Given the description of an element on the screen output the (x, y) to click on. 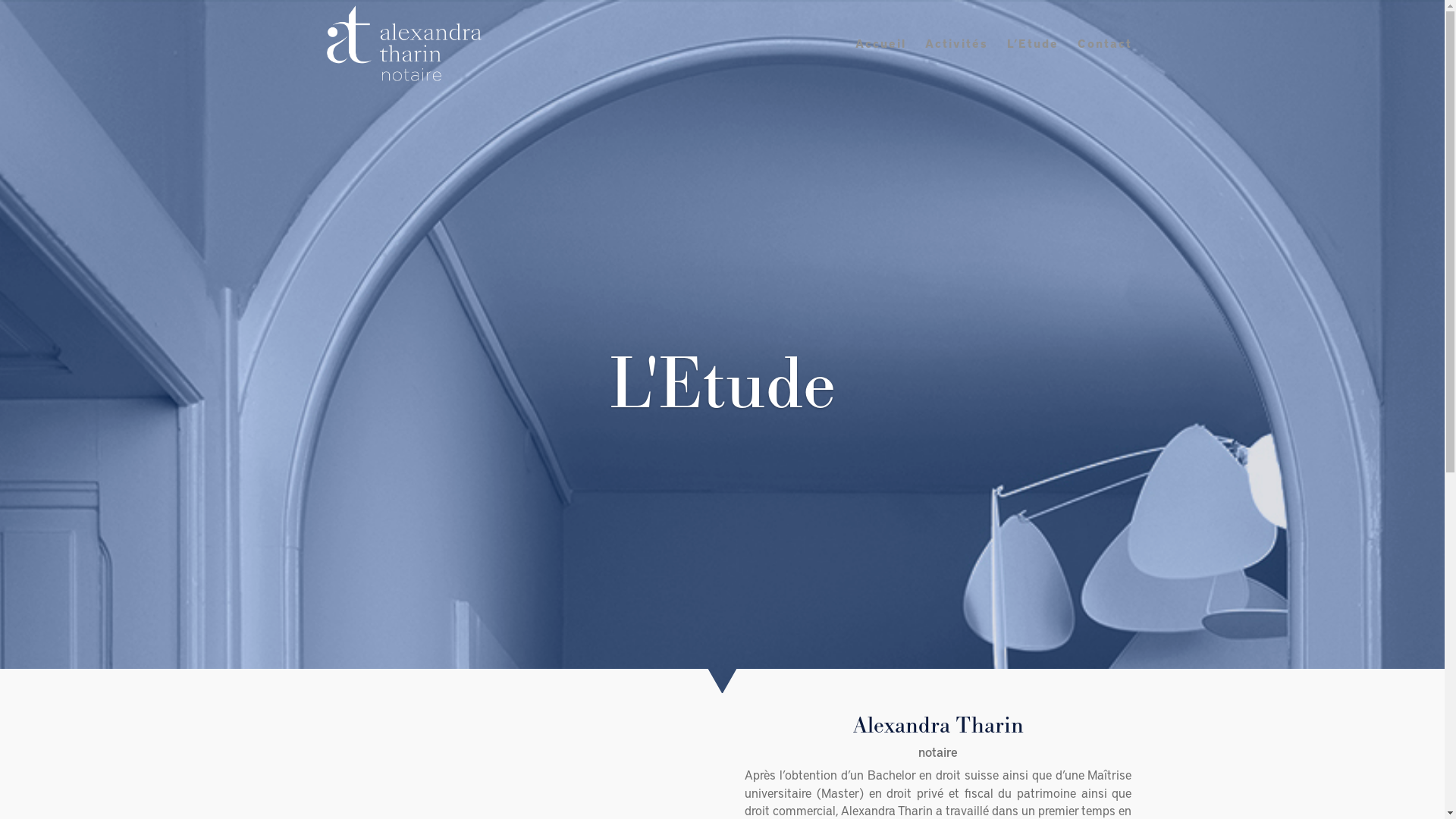
Contact Element type: text (1103, 61)
Accueil Element type: text (880, 61)
L'Etude Element type: text (721, 385)
